Given the description of an element on the screen output the (x, y) to click on. 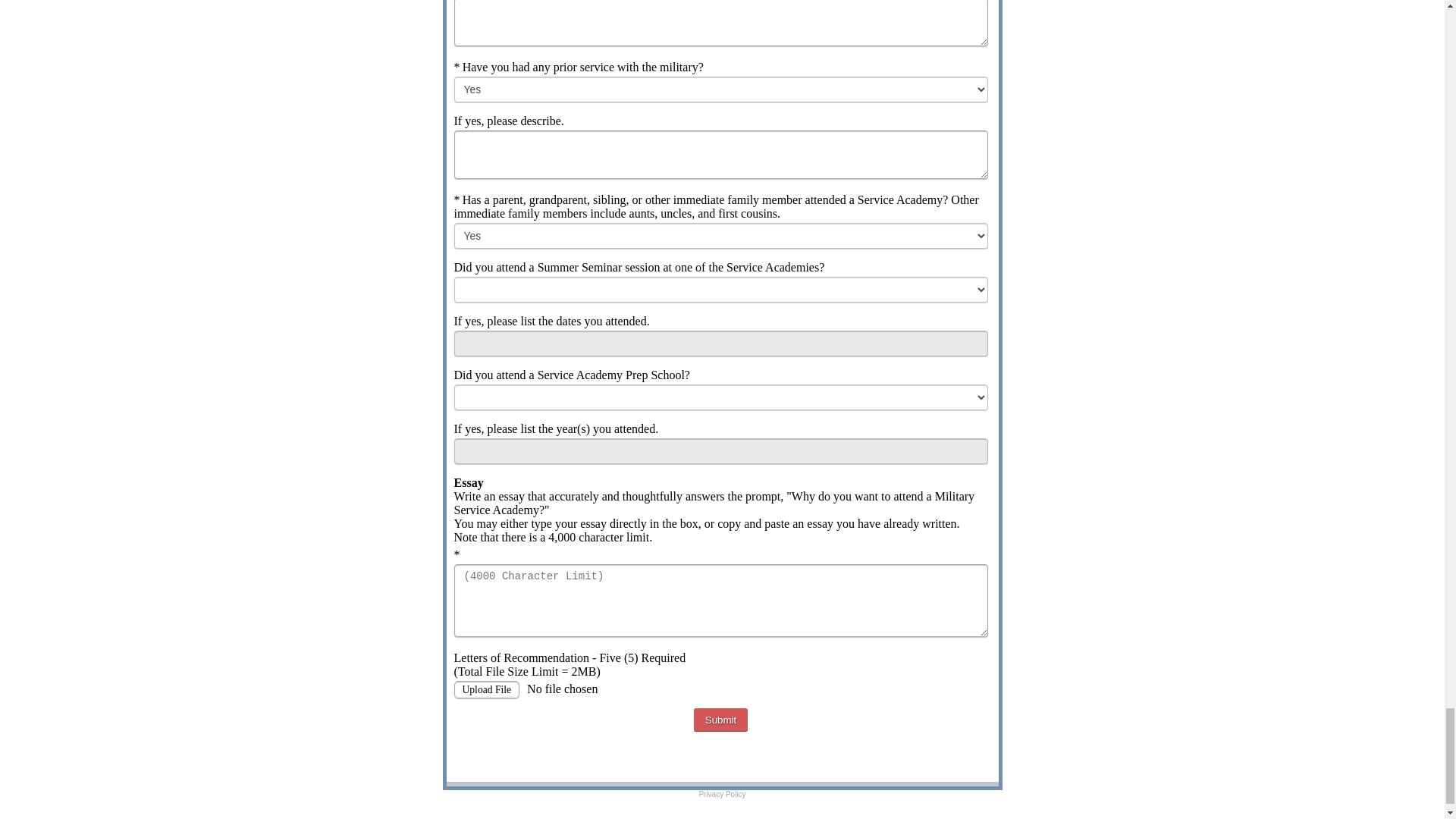
Submit (721, 720)
